Given the description of an element on the screen output the (x, y) to click on. 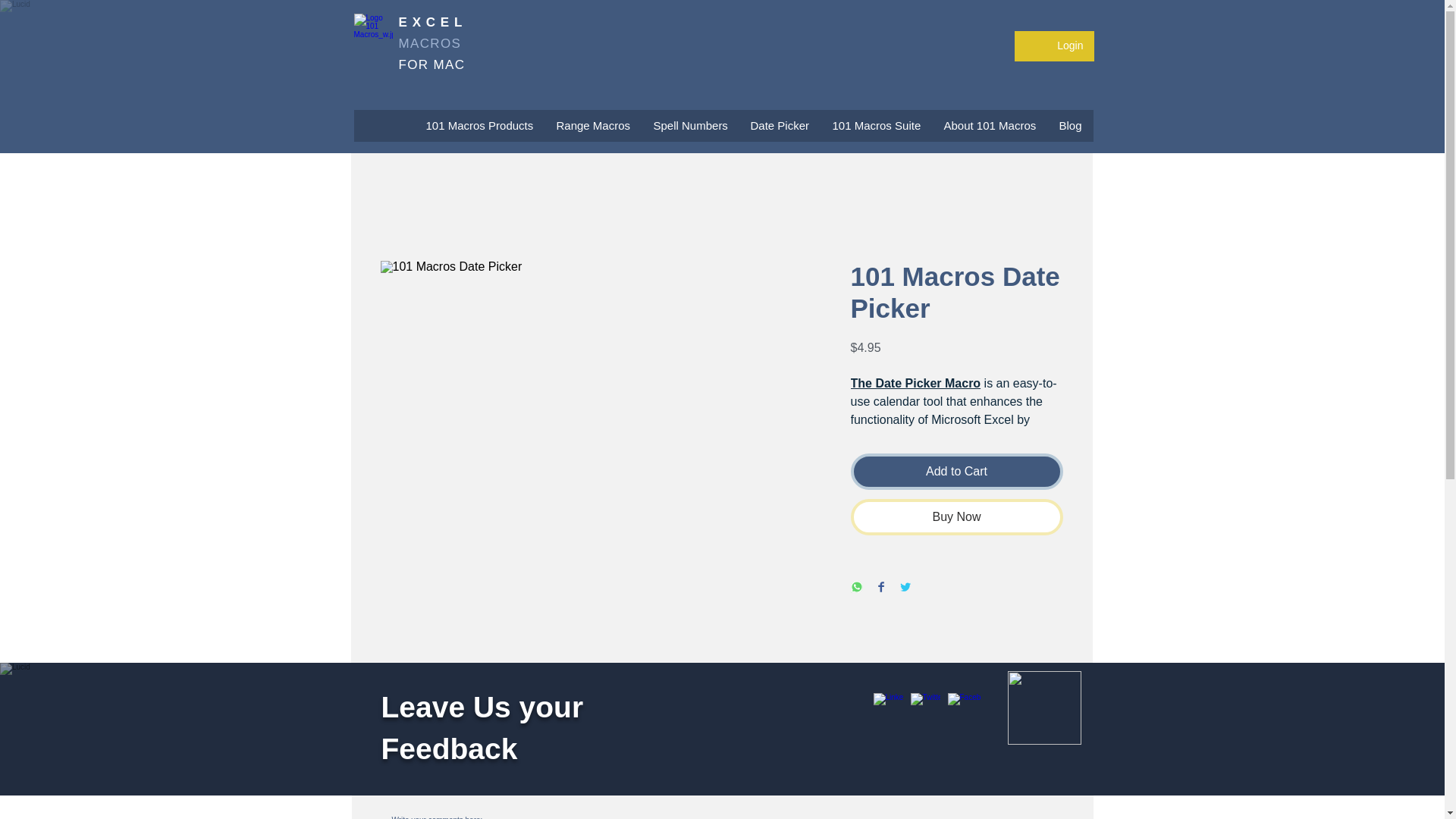
Spell Numbers (690, 130)
Add to Cart (956, 471)
101Macros Favicon.png (1043, 707)
Buy Now (956, 516)
About 101 Macros (990, 130)
Date Picker (779, 130)
Login (1056, 45)
101 Macros Products (478, 130)
Range Macros (593, 130)
Blog (1070, 130)
